Given the description of an element on the screen output the (x, y) to click on. 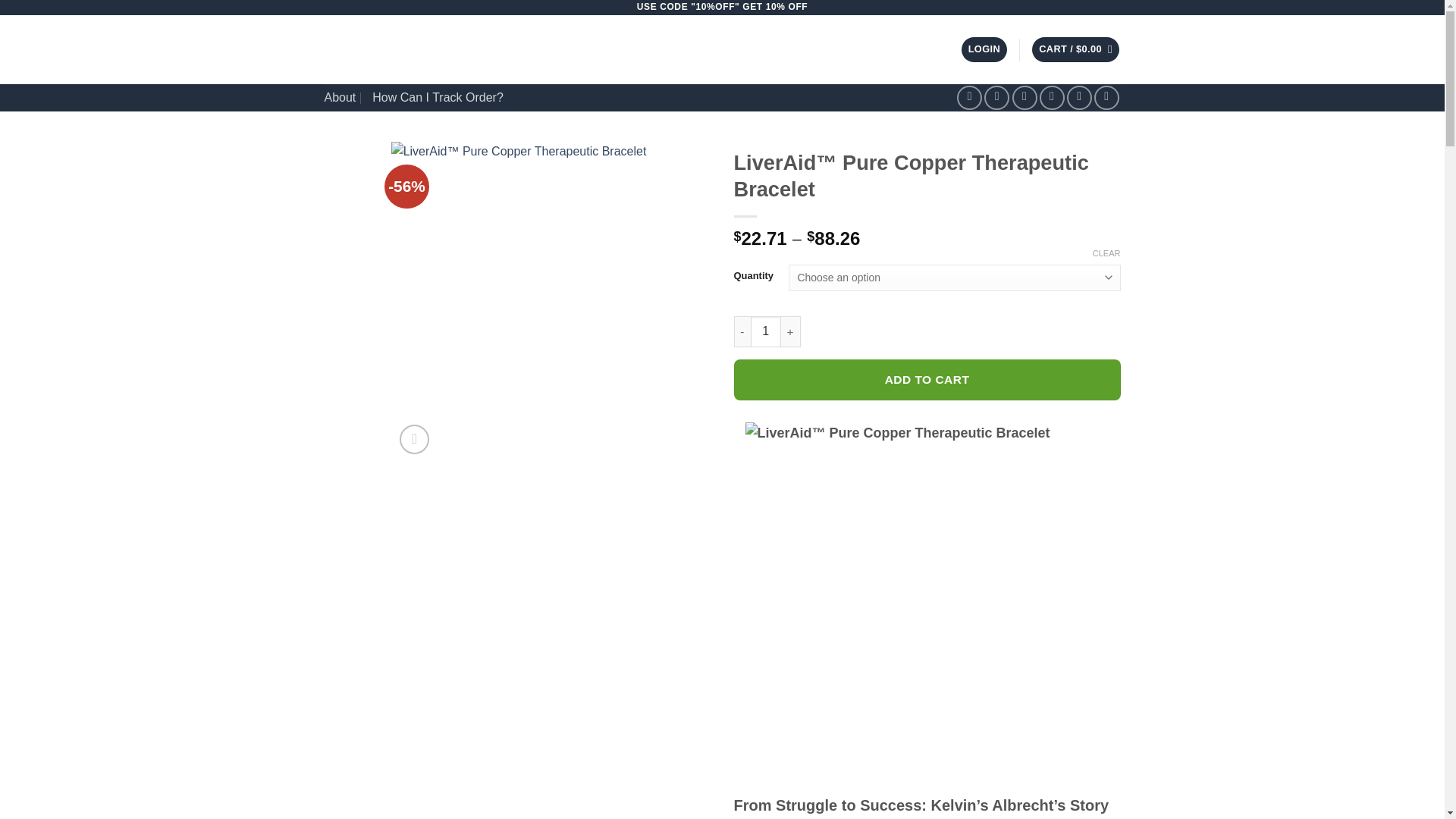
Zoom (413, 439)
How Can I Track Order? (437, 97)
Cart (1075, 49)
1 (765, 331)
LOGIN (983, 49)
Login (983, 49)
About (340, 97)
Follow on YouTube (1106, 97)
Send us an email (1051, 97)
Follow on Pinterest (1079, 97)
